Given the description of an element on the screen output the (x, y) to click on. 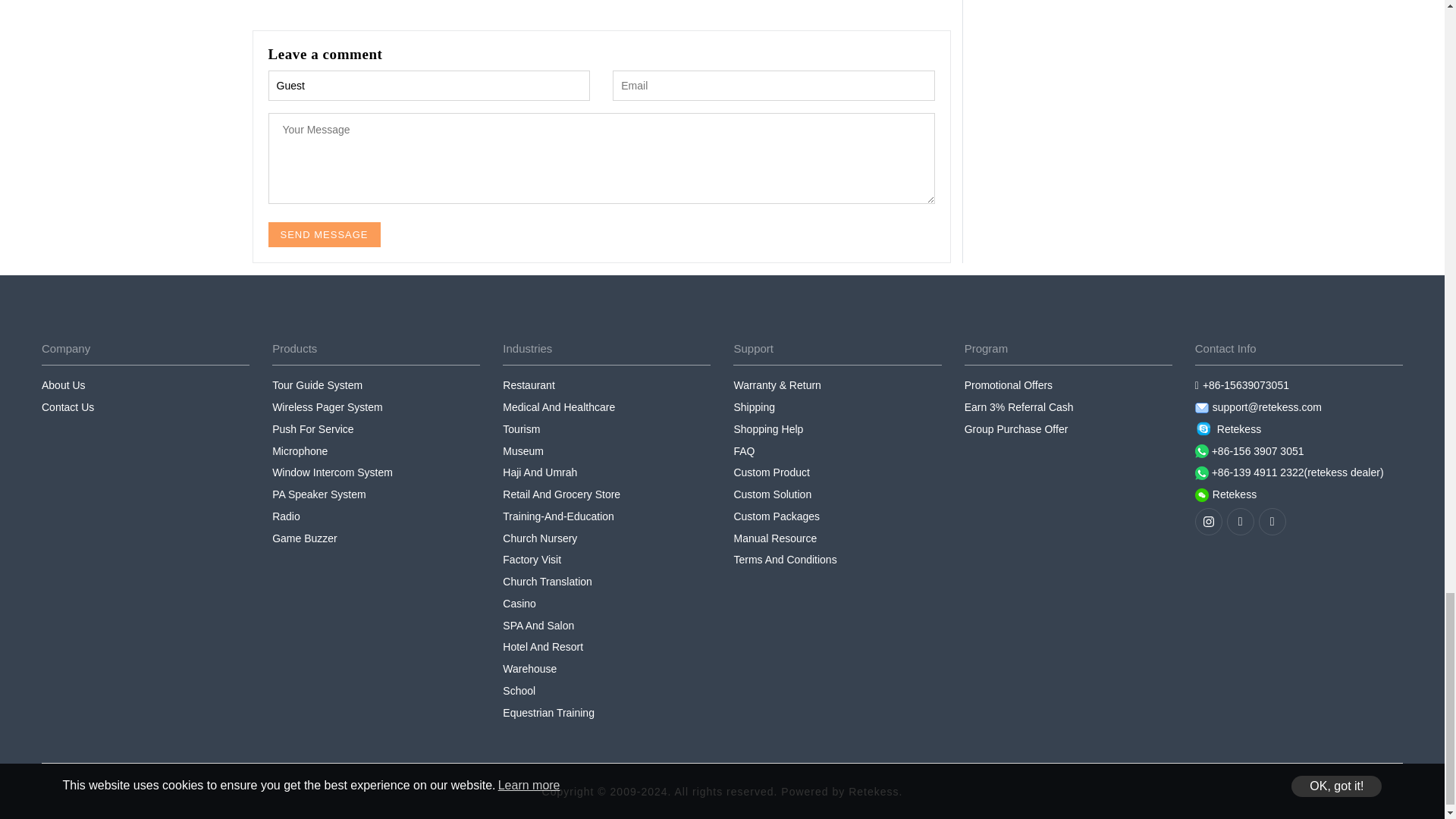
Guest (429, 85)
Send Message (323, 234)
